Given the description of an element on the screen output the (x, y) to click on. 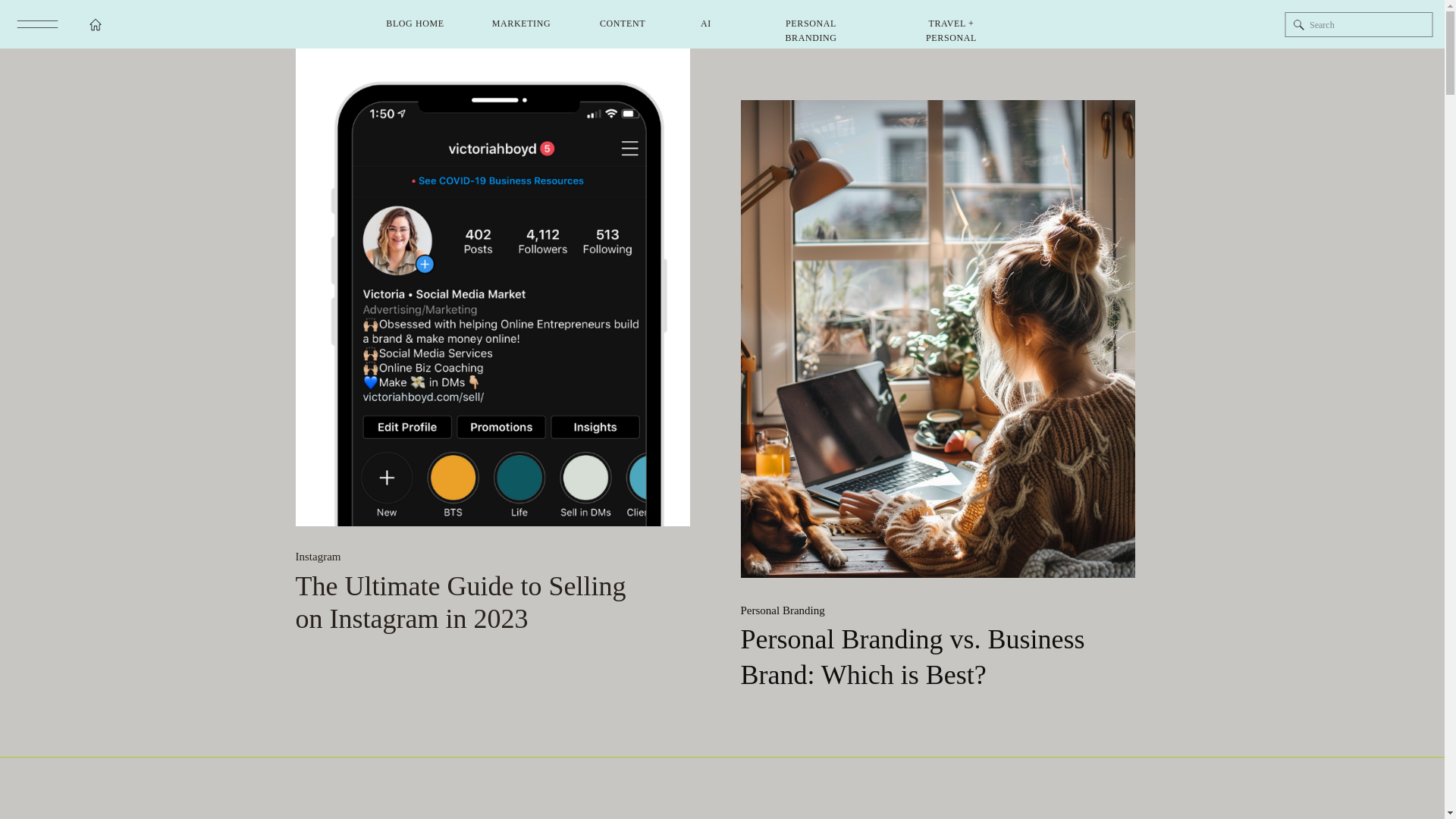
MARKETING (521, 23)
Instagram (317, 556)
AI (705, 23)
PERSONAL BRANDING (810, 23)
CONTENT (621, 23)
BLOG HOME (414, 23)
The Ultimate Guide to Selling on Instagram in 2023 (460, 601)
